Given the description of an element on the screen output the (x, y) to click on. 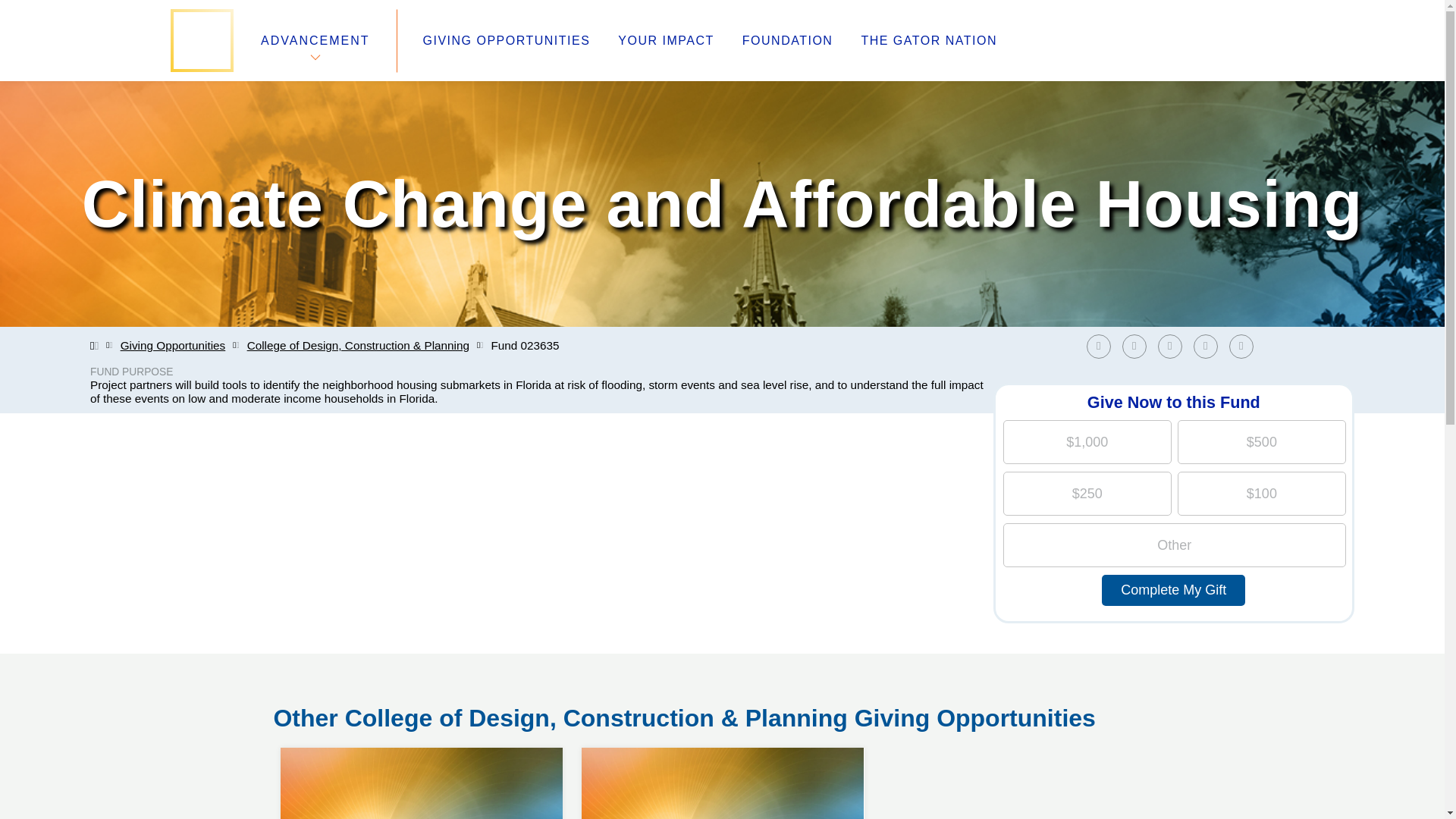
FOUNDATION (787, 40)
Share on Reddit (1209, 345)
Foundation Board (327, 704)
Giving Opportunities (172, 345)
YOUR IMPACT (665, 40)
Share by Email (1244, 345)
Share on LinkedIn (1169, 346)
ADVANCEMENT (314, 40)
Privacy Policy (545, 704)
GIVING OPPORTUNITIES (507, 40)
Share by Email (1240, 346)
Share on Reddit (1205, 346)
Share on Facebook (1102, 345)
Share on LinkedIn (1173, 345)
THE GATOR NATION (928, 40)
